Given the description of an element on the screen output the (x, y) to click on. 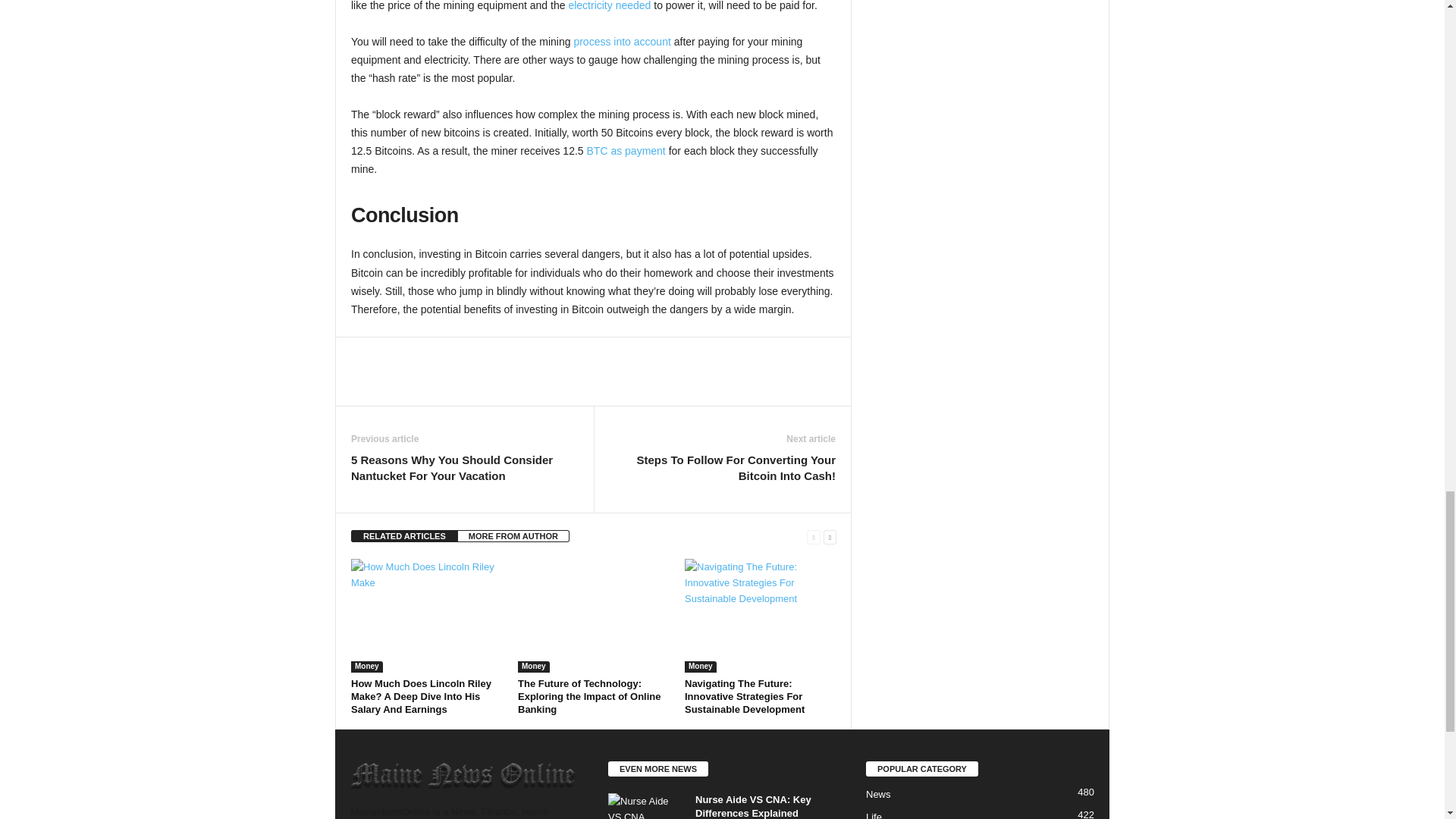
electricity needed (608, 5)
bottomFacebookLike (390, 352)
BTC as payment (625, 150)
process into account (621, 41)
